Given the description of an element on the screen output the (x, y) to click on. 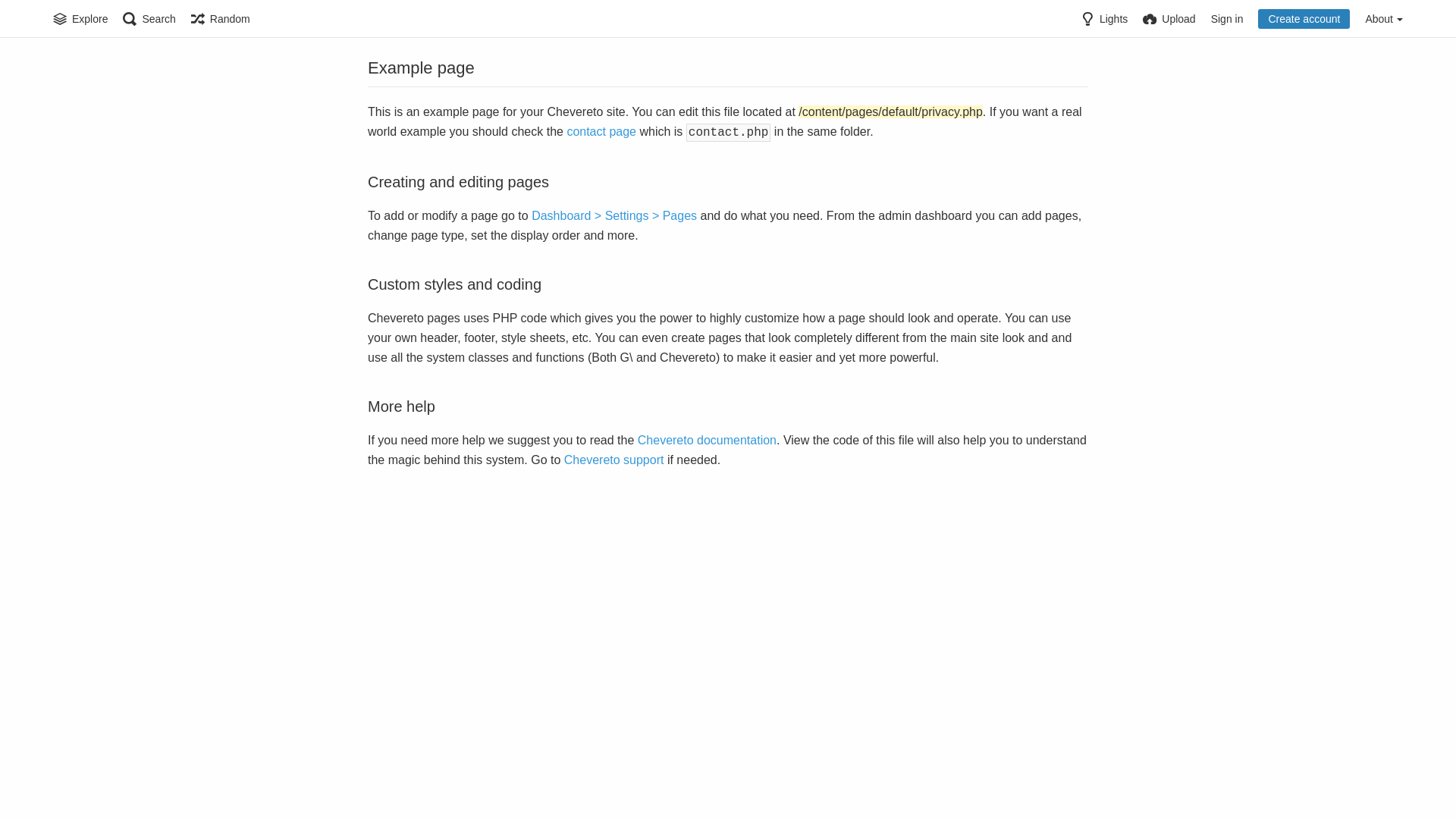
Random Element type: text (220, 18)
Chevereto documentation Element type: text (706, 439)
contact page Element type: text (601, 131)
Sign in Element type: text (1227, 18)
Upload Element type: text (1168, 18)
Dashboard > Settings > Pages Element type: text (613, 215)
Chevereto support Element type: text (614, 459)
Create account Element type: text (1303, 18)
